Given the description of an element on the screen output the (x, y) to click on. 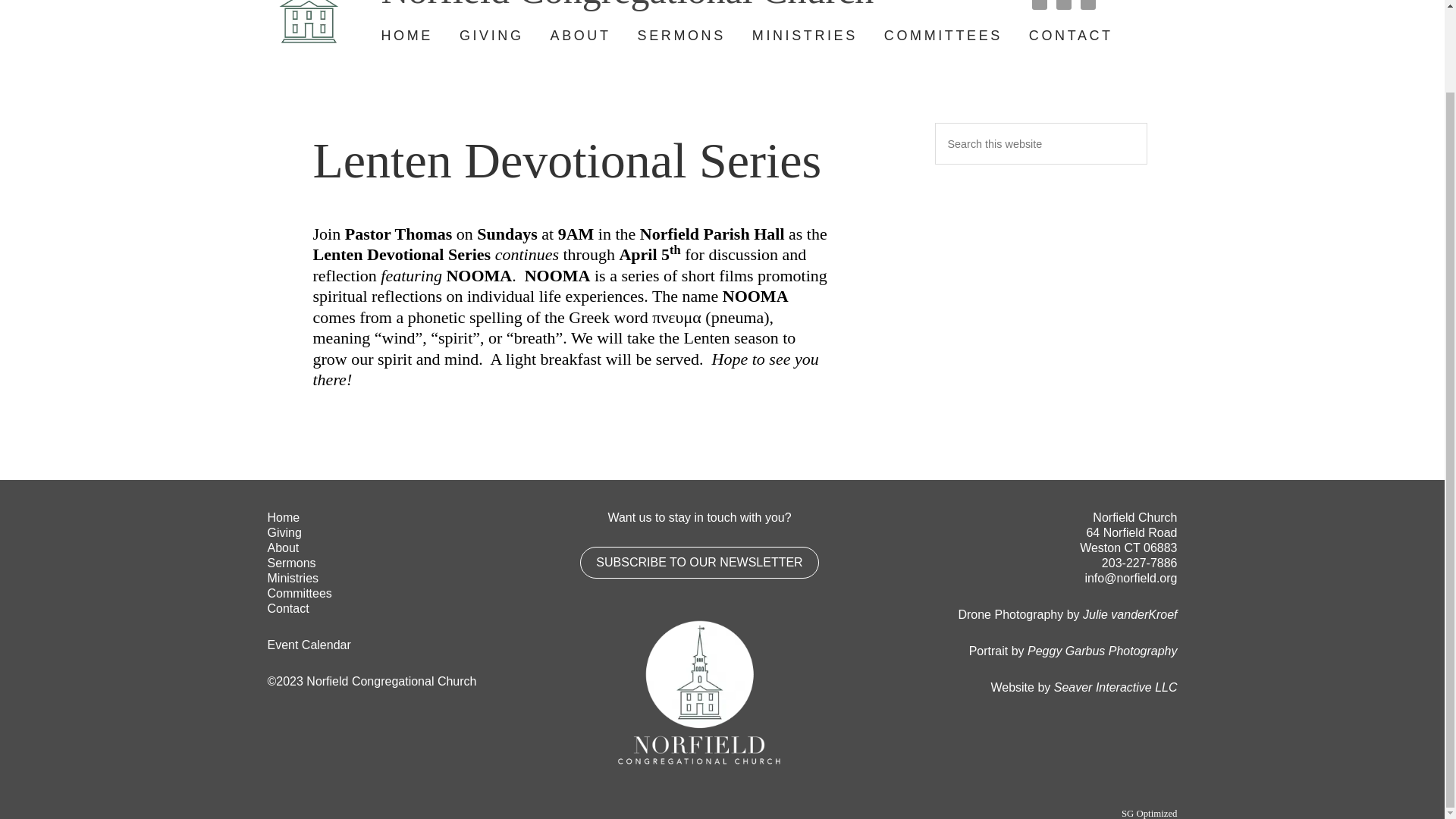
COMMITTEES (942, 35)
Norfield Congregational Church (607, 6)
HOME (406, 35)
SERMONS (681, 35)
GIVING (491, 35)
ABOUT (580, 35)
MINISTRIES (805, 35)
